Given the description of an element on the screen output the (x, y) to click on. 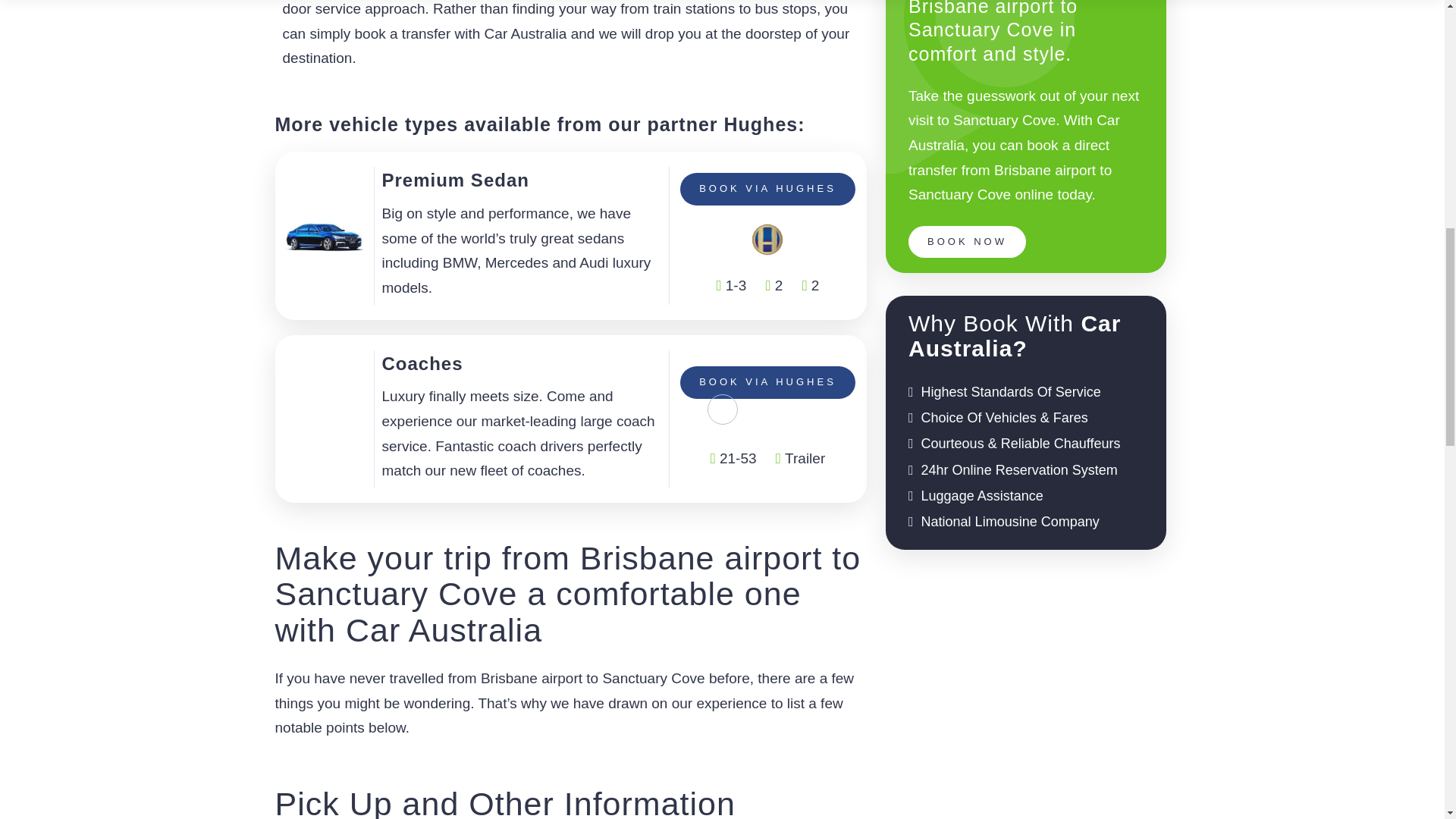
BOOK VIA HUGHES (767, 188)
BOOK NOW (967, 241)
BOOK VIA HUGHES (767, 382)
